Given the description of an element on the screen output the (x, y) to click on. 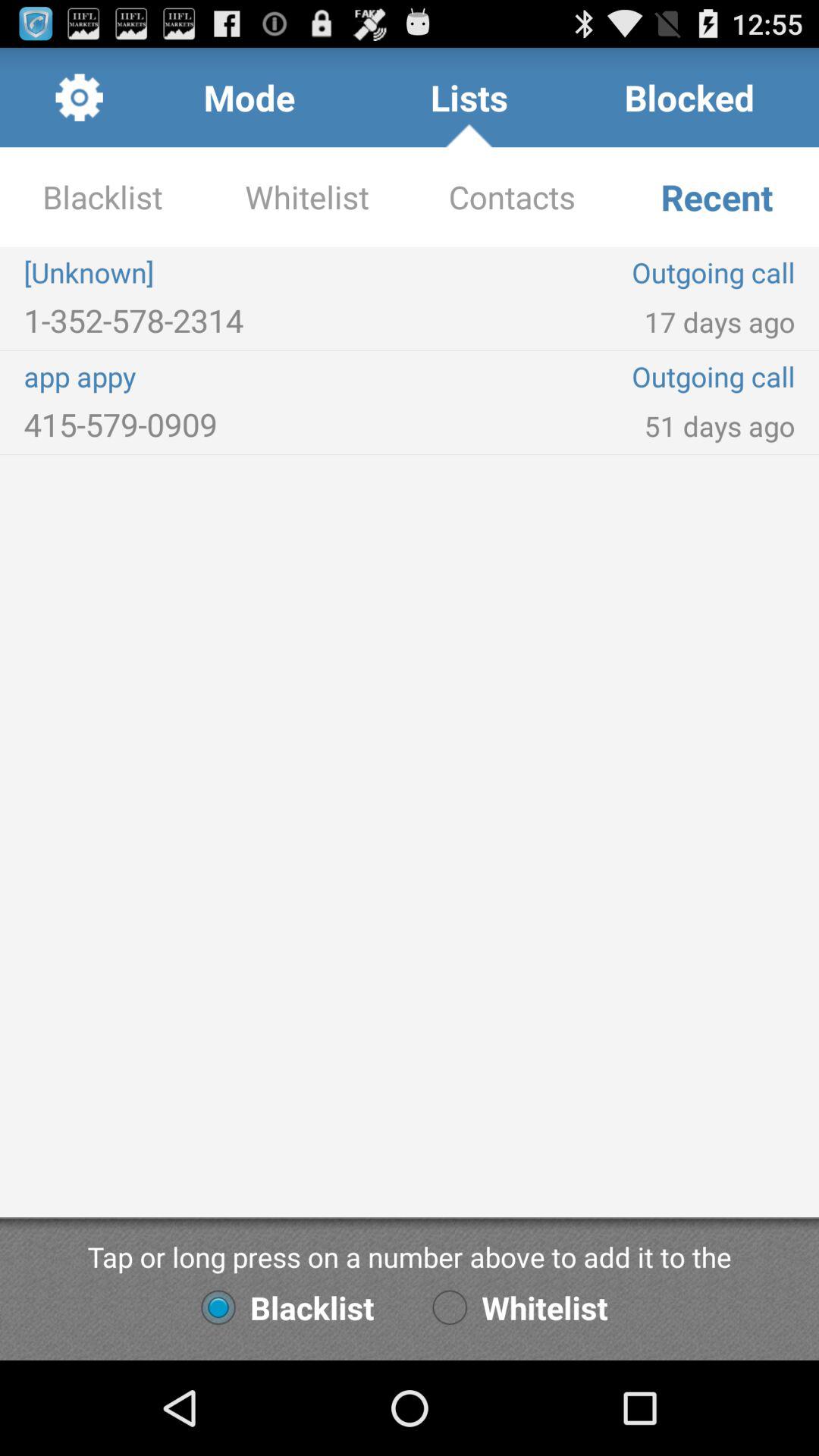
launch the [unknown] app (216, 272)
